Given the description of an element on the screen output the (x, y) to click on. 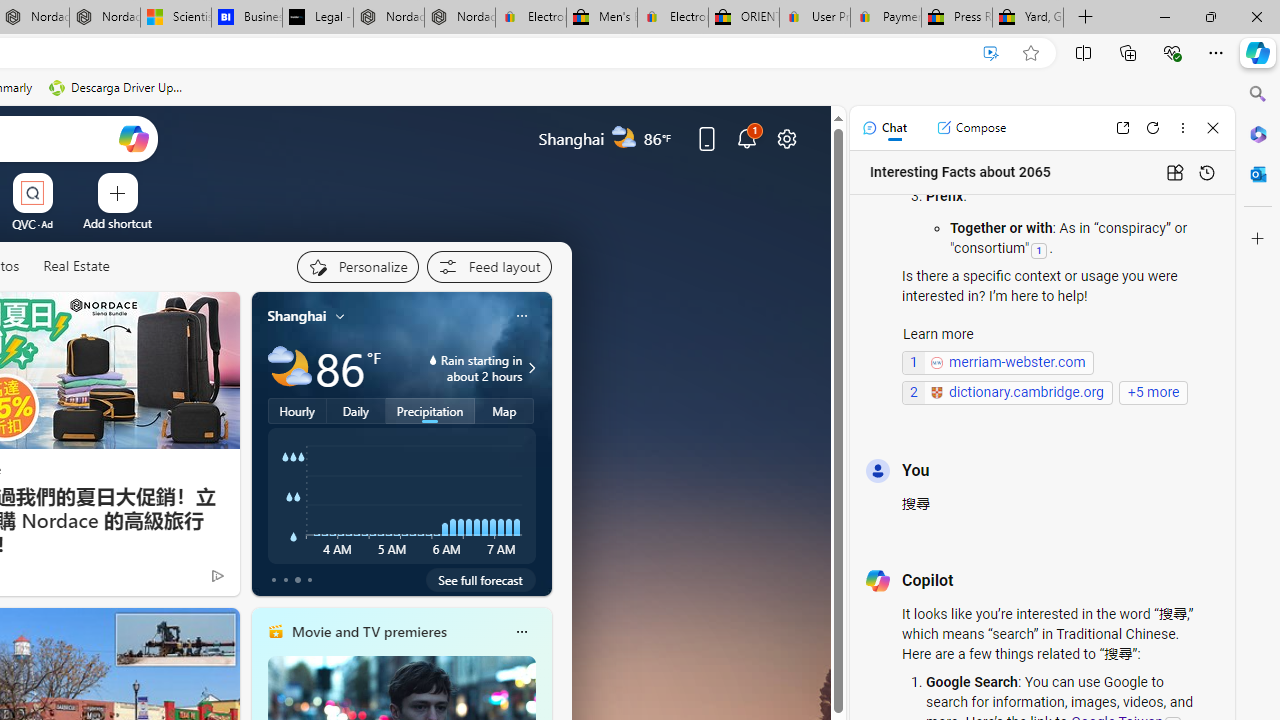
Map (504, 411)
Rain starting in about 2 hours (529, 367)
Enhance video (991, 53)
Feed settings (488, 266)
